Given the description of an element on the screen output the (x, y) to click on. 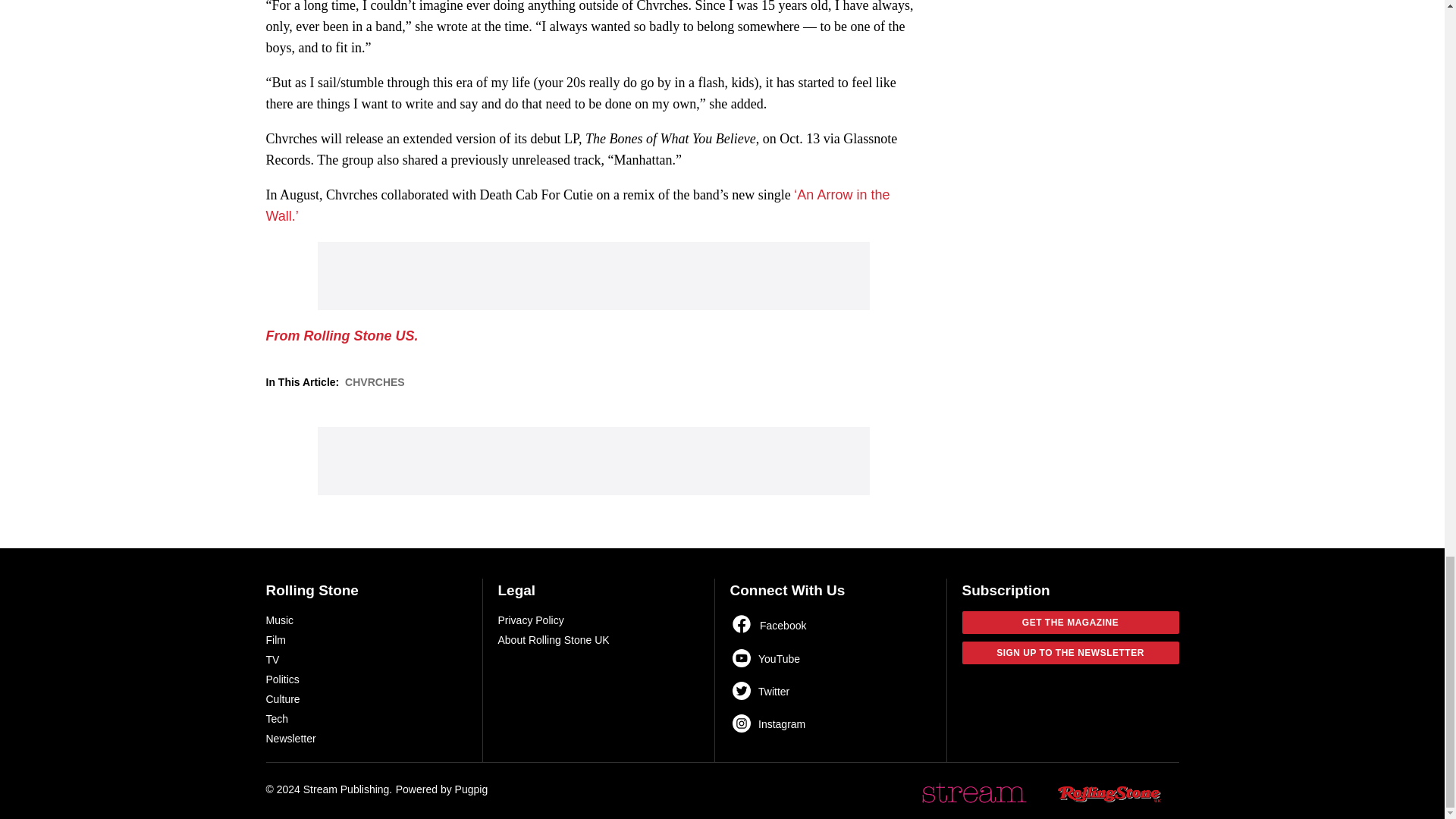
3rd party ad content (593, 275)
3rd party ad content (593, 460)
